Given the description of an element on the screen output the (x, y) to click on. 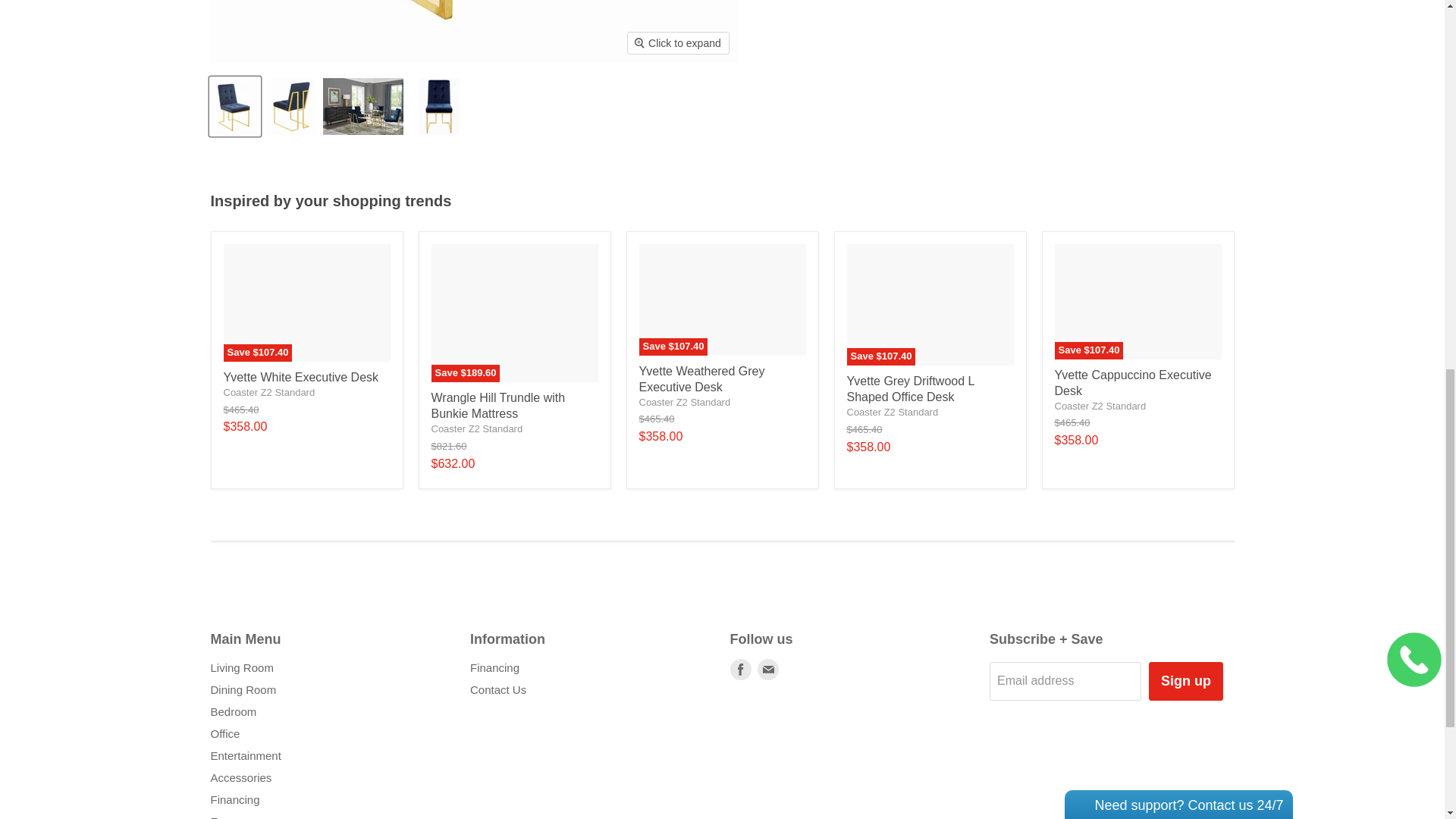
E-mail (767, 669)
Click to popout into a new window (1205, 31)
Coaster Z2 Standard (891, 411)
Coaster Z2 Standard (1099, 405)
Coaster Z2 Standard (476, 428)
Facebook (740, 669)
Coaster Z2 Standard (684, 401)
Click to minimize (1187, 31)
Coaster Z2 Standard (268, 392)
